Given the description of an element on the screen output the (x, y) to click on. 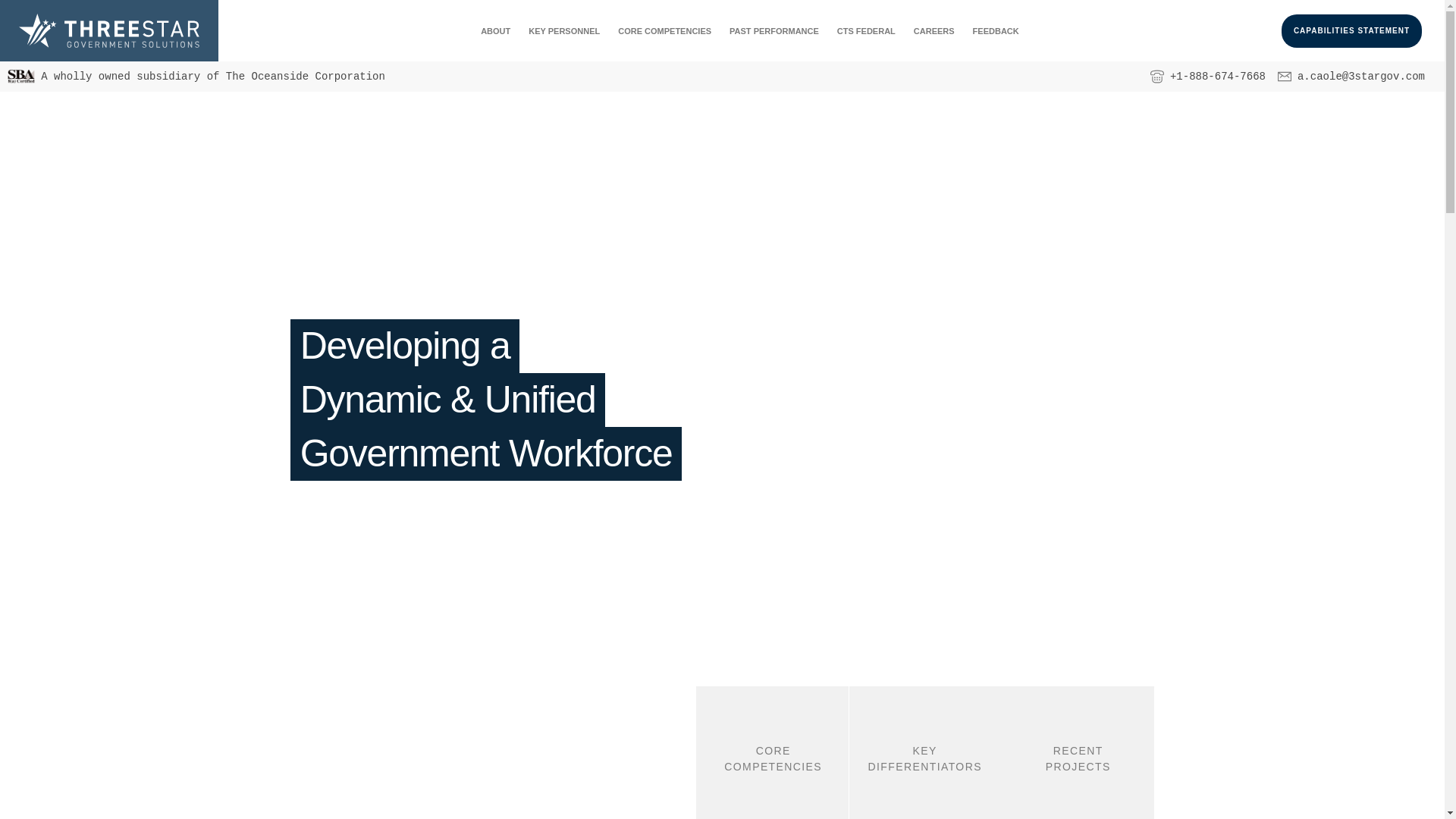
FEEDBACK Element type: text (995, 30)
CAPABILITIES STATEMENT Element type: text (1351, 30)
ABOUT Element type: text (495, 30)
PAST PERFORMANCE Element type: text (774, 30)
KEY PERSONNEL Element type: text (563, 30)
CAREERS Element type: text (933, 30)
CORE COMPETENCIES Element type: text (664, 30)
CTS FEDERAL Element type: text (866, 30)
